Given the description of an element on the screen output the (x, y) to click on. 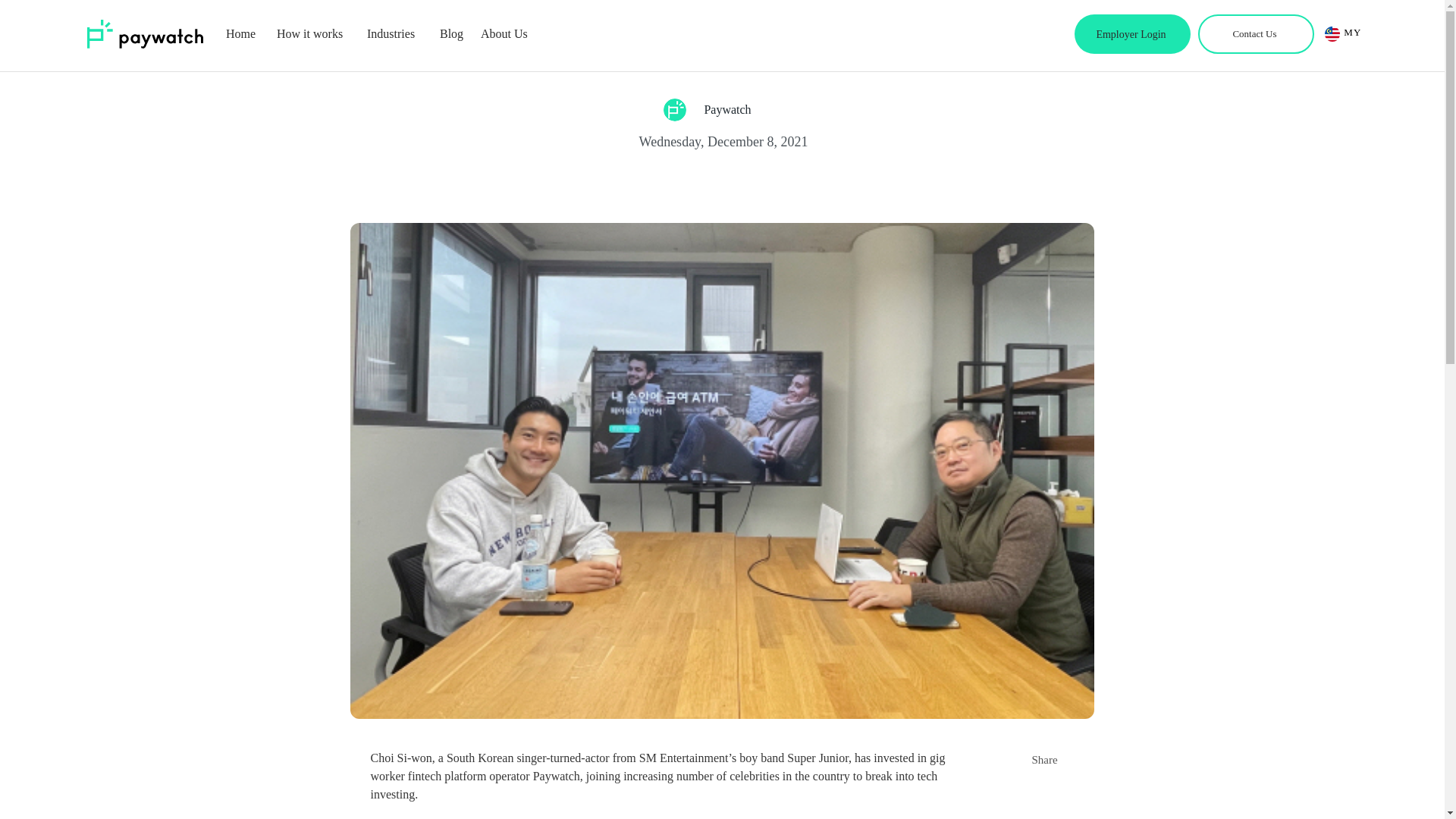
Blog (452, 34)
Home (243, 34)
Paywatch (673, 109)
How it works (314, 34)
Employer Login (1132, 34)
Contact Us (1256, 34)
Industries (395, 34)
About Us (507, 34)
MY (1352, 31)
